Given the description of an element on the screen output the (x, y) to click on. 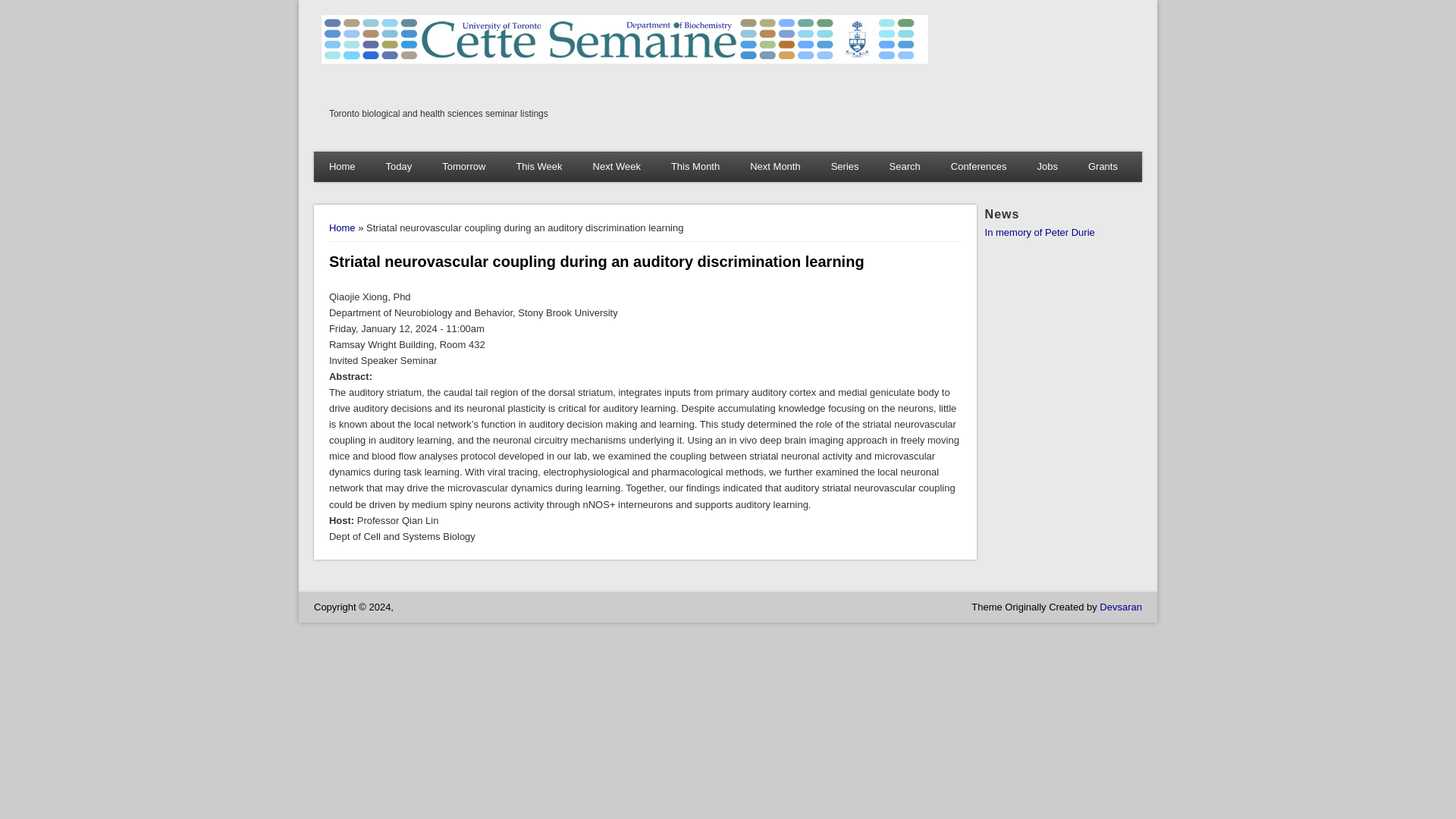
Next Week (617, 166)
Grants (1102, 166)
Ce Mois-ci (695, 166)
Tomorrow (463, 166)
This Week (342, 166)
Today (399, 166)
Conferences (979, 166)
This Week (538, 166)
Home (624, 60)
Home (342, 166)
Jobs (1046, 166)
Aujourd'hui (399, 166)
Series (845, 166)
Home (342, 227)
Mois Prochain (775, 166)
